Given the description of an element on the screen output the (x, y) to click on. 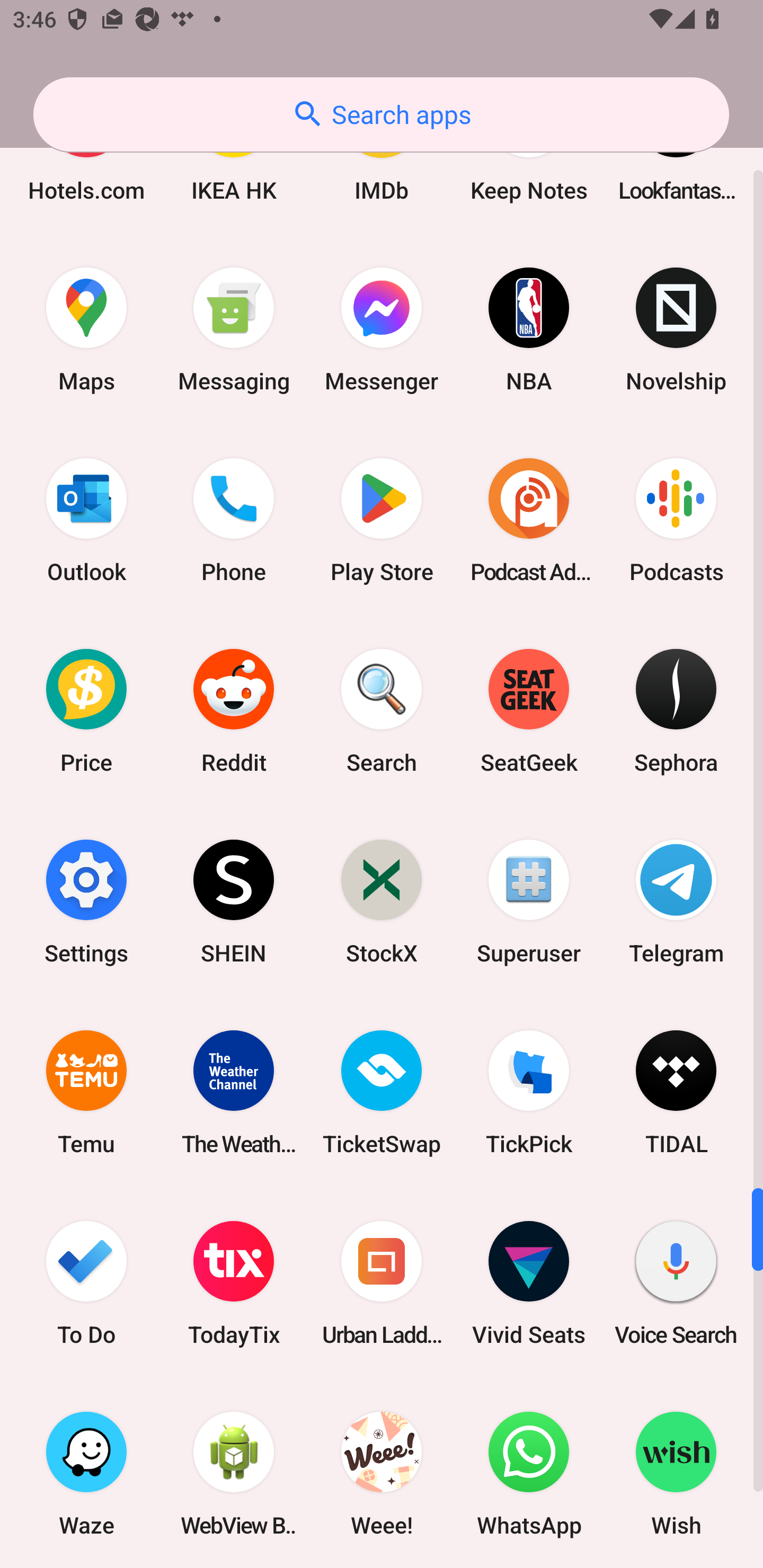
To Do (86, 1282)
